Given the description of an element on the screen output the (x, y) to click on. 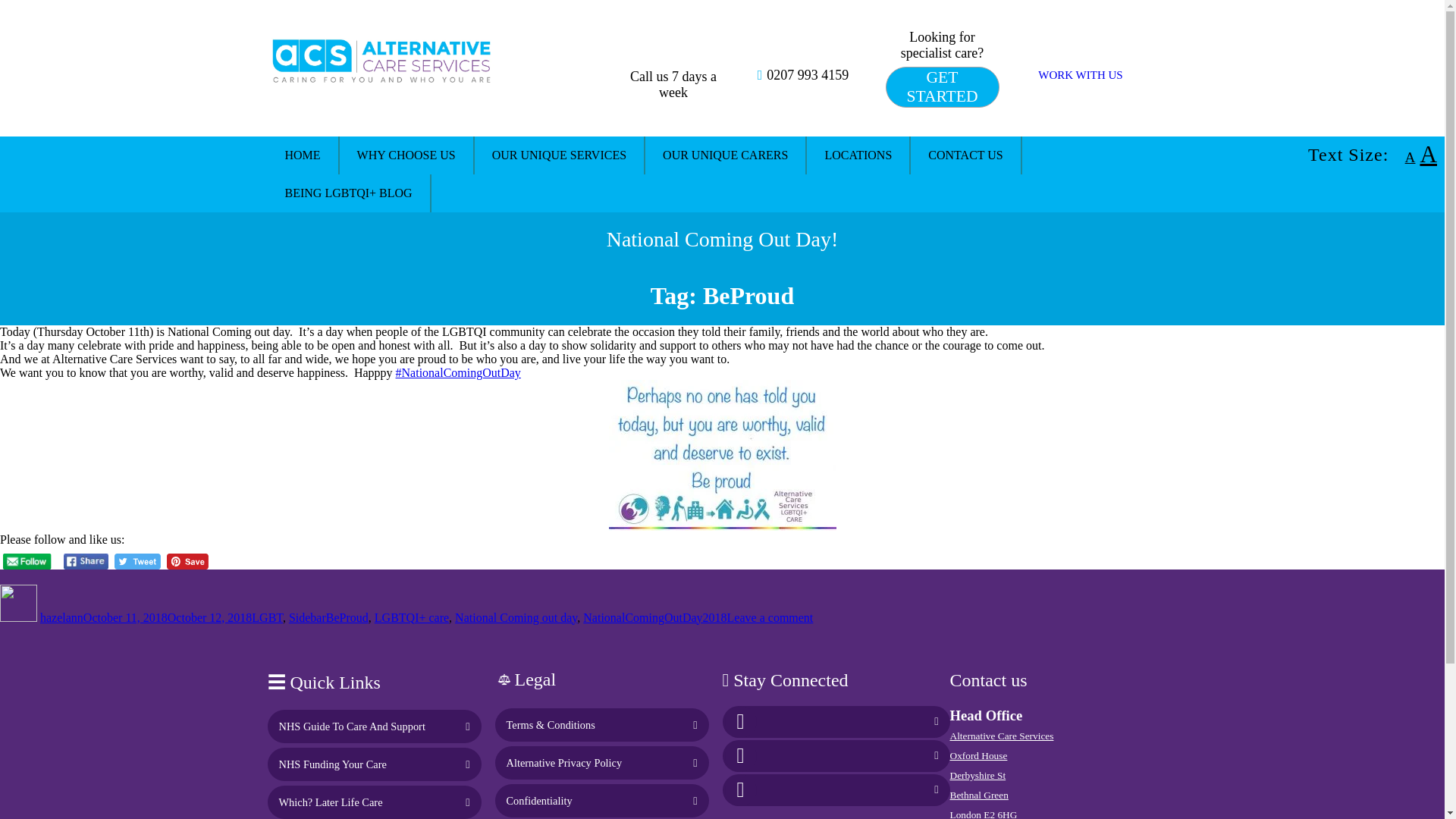
NHS Guide To Care And Support (352, 726)
Sidebar (307, 617)
Confidentiality (539, 800)
LOCATIONS (858, 155)
WORK WITH US (1080, 74)
Which? Later Life Care (330, 802)
mail (741, 789)
Facebook (741, 721)
NHS Funding Your Care (333, 764)
GET STARTED (941, 86)
